Given the description of an element on the screen output the (x, y) to click on. 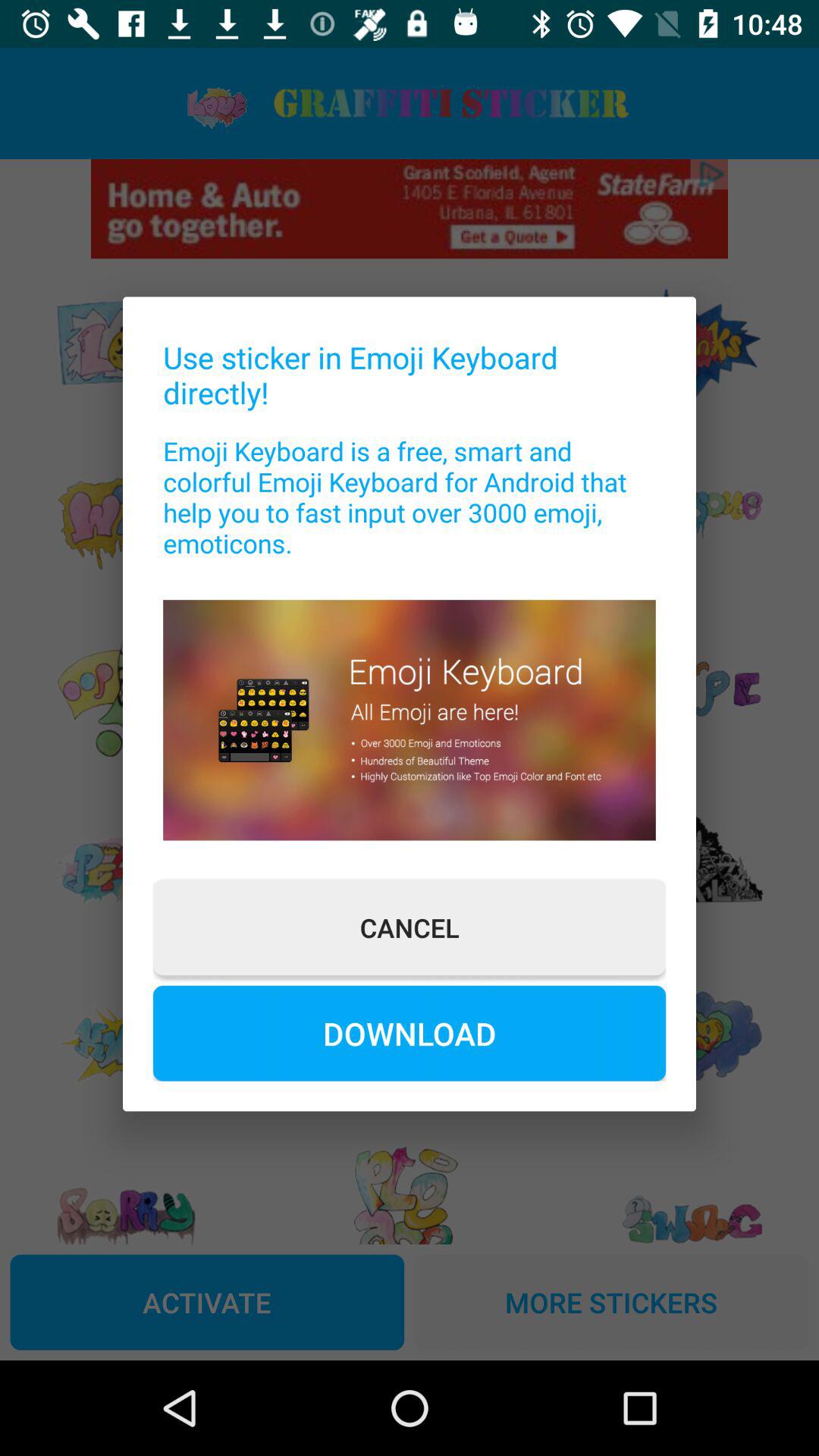
turn off download button (409, 1033)
